Given the description of an element on the screen output the (x, y) to click on. 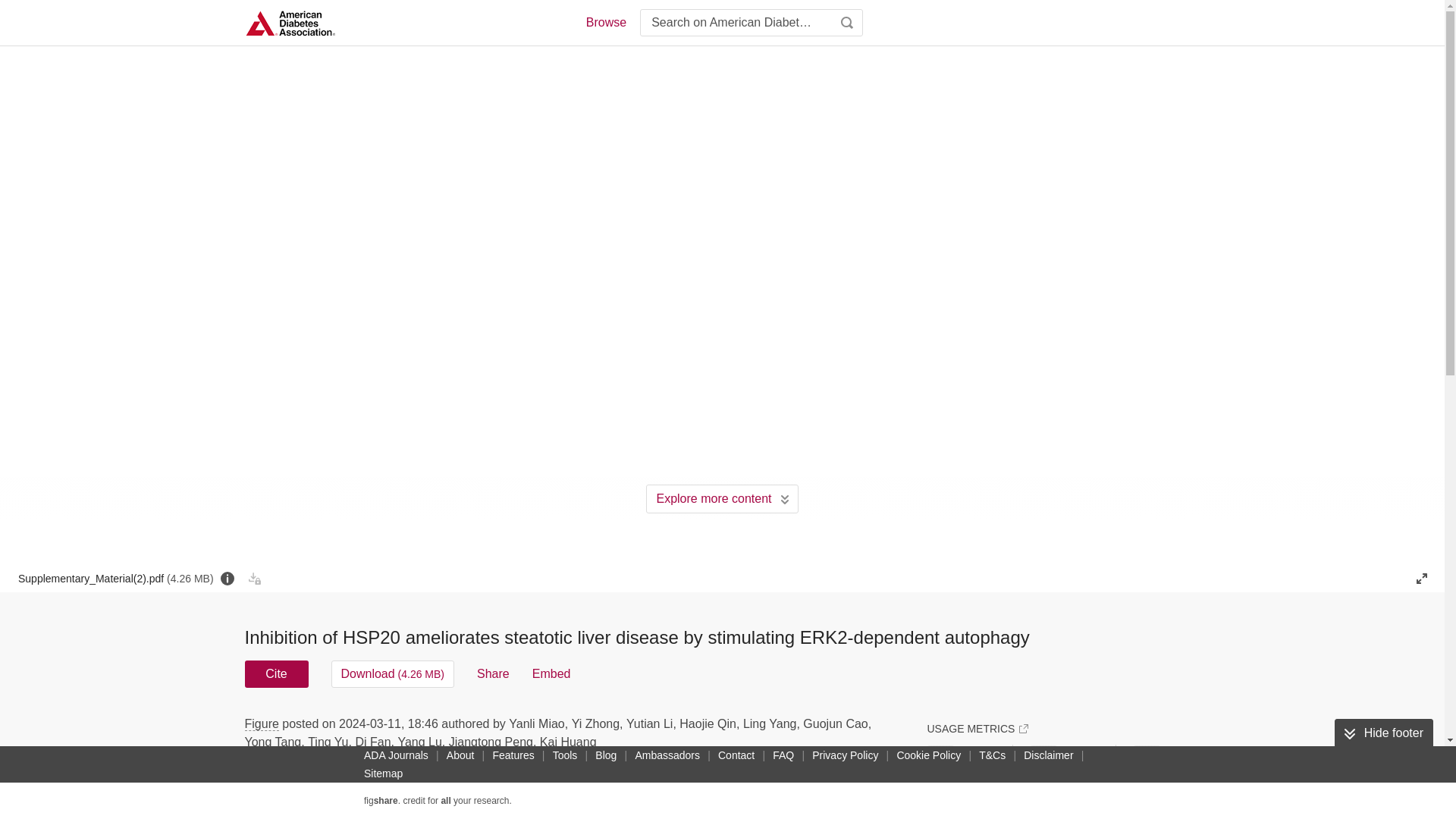
Ambassadors (667, 755)
Explore more content (721, 498)
ADA Journals (395, 755)
Features (512, 755)
Browse (605, 22)
About (460, 755)
Tools (565, 755)
Embed (551, 673)
Contact (735, 755)
Share (493, 673)
USAGE METRICS (976, 728)
Hide footer (1383, 733)
Blog (606, 755)
Cite (275, 673)
